Given the description of an element on the screen output the (x, y) to click on. 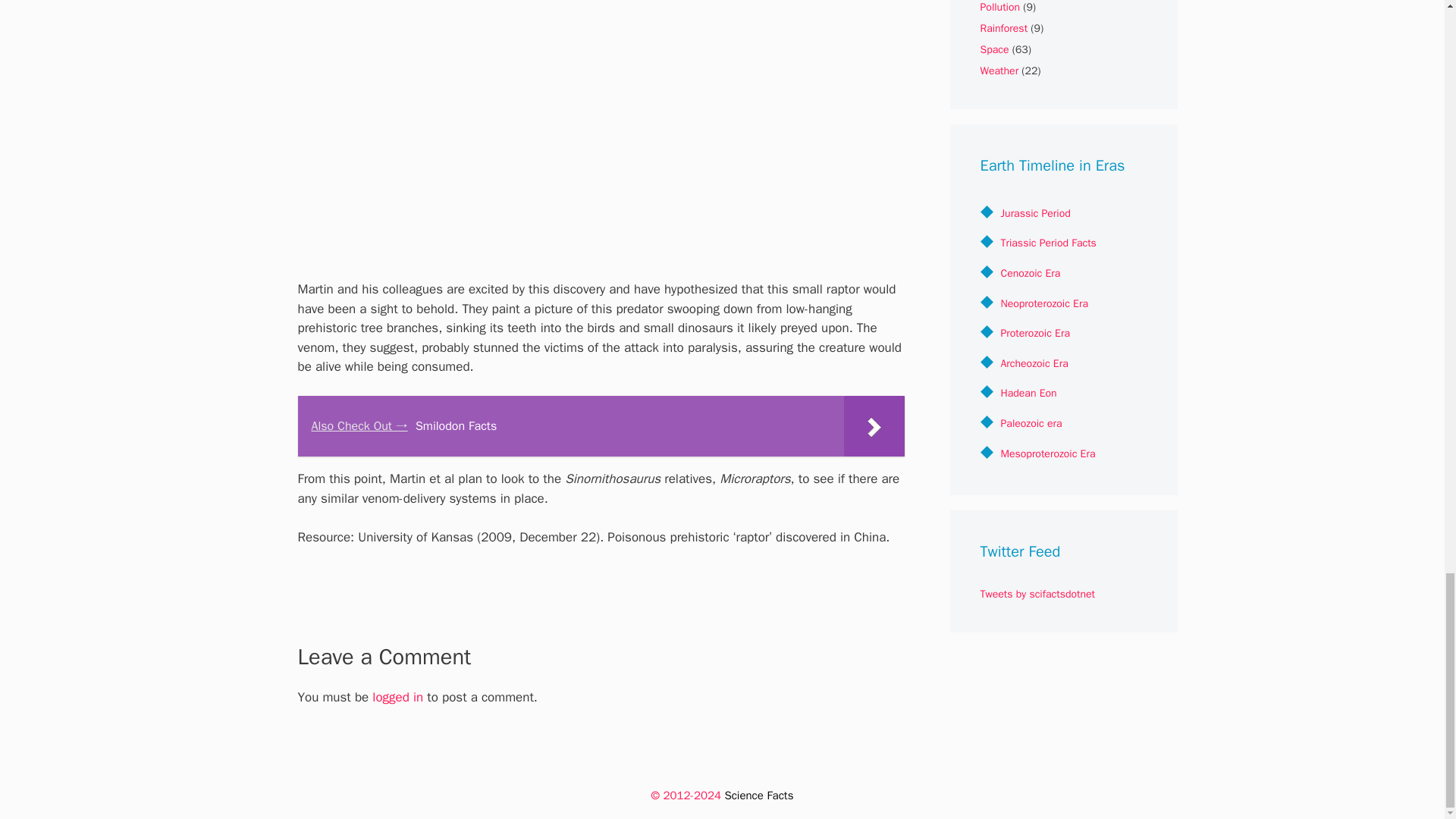
logged in (397, 697)
